Given the description of an element on the screen output the (x, y) to click on. 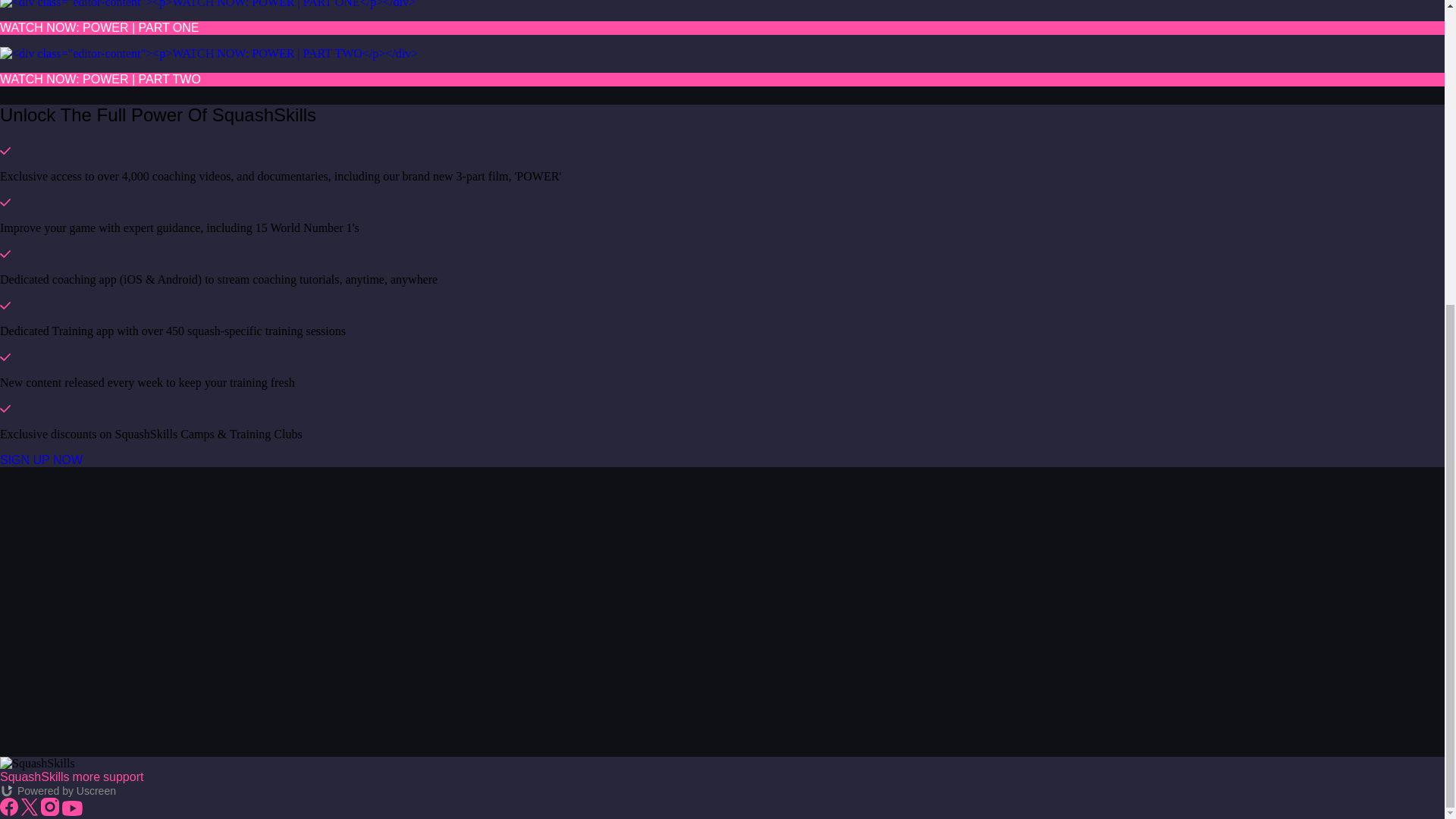
youtube (72, 807)
instagram (49, 806)
twitter (29, 806)
facebook (8, 806)
SquashSkills (34, 776)
